Given the description of an element on the screen output the (x, y) to click on. 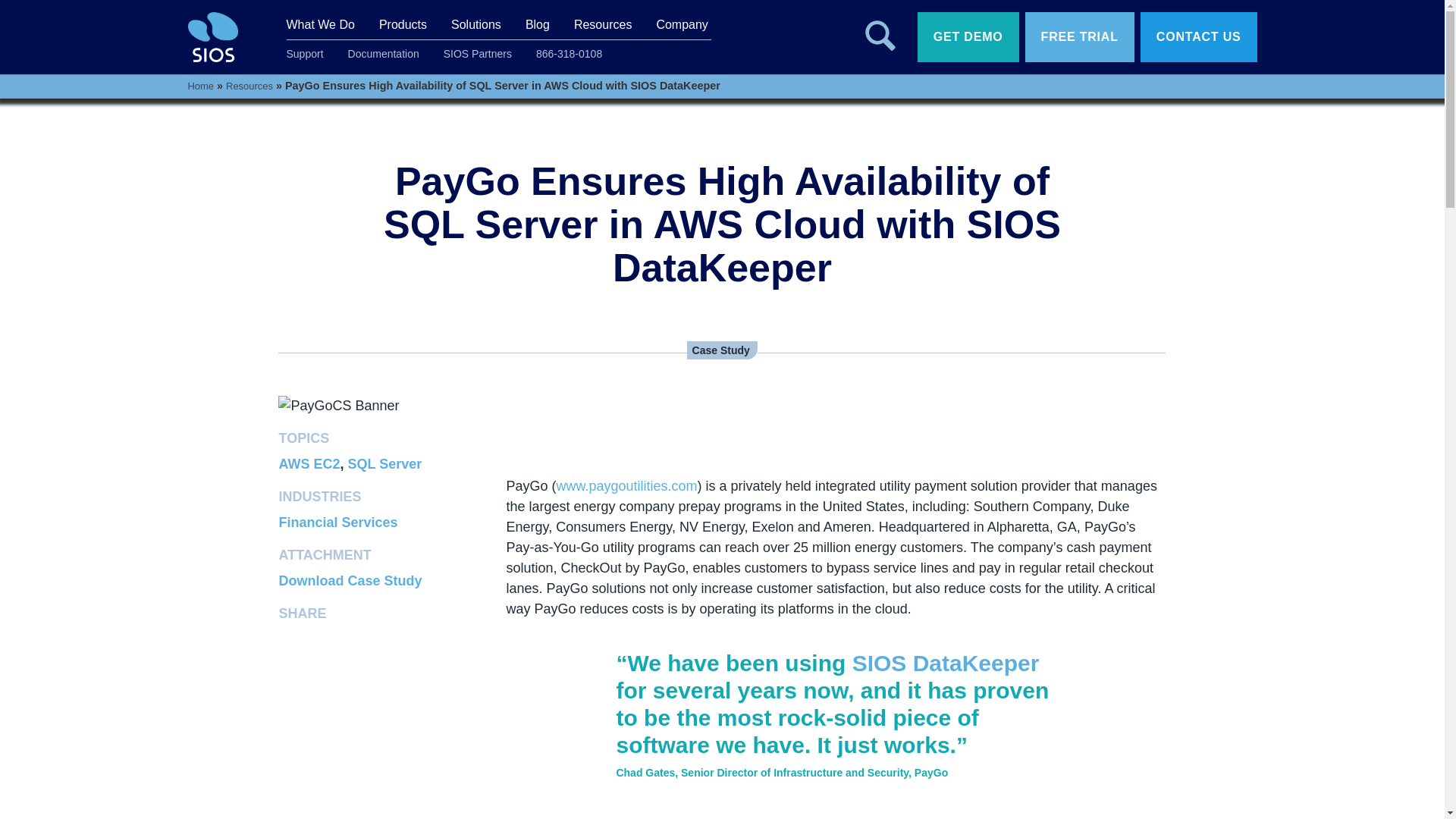
Solutions (475, 23)
866-318-0108 (569, 53)
Get Demo (968, 36)
SIOS Partners (477, 53)
Contact Us (1198, 36)
What We Do (321, 23)
Support (305, 53)
Documentation (383, 53)
Free Trial (1079, 36)
Products (402, 23)
